Given the description of an element on the screen output the (x, y) to click on. 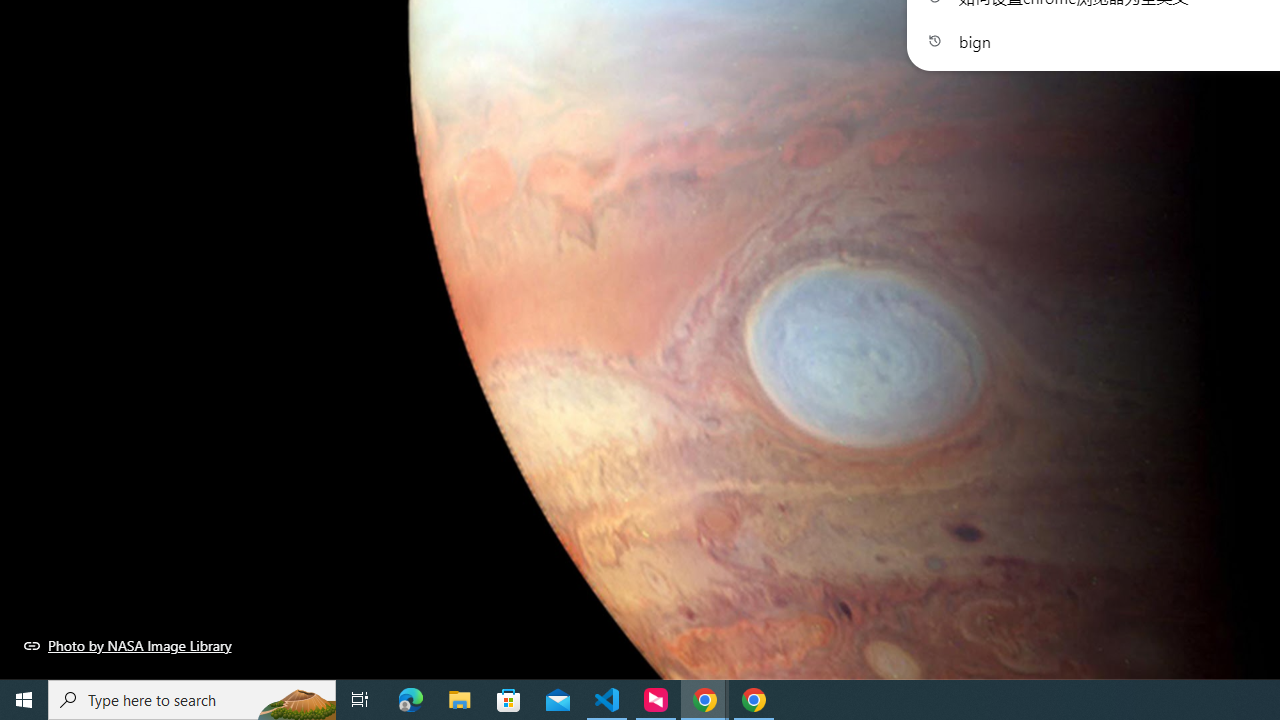
Photo by NASA Image Library (127, 645)
